Given the description of an element on the screen output the (x, y) to click on. 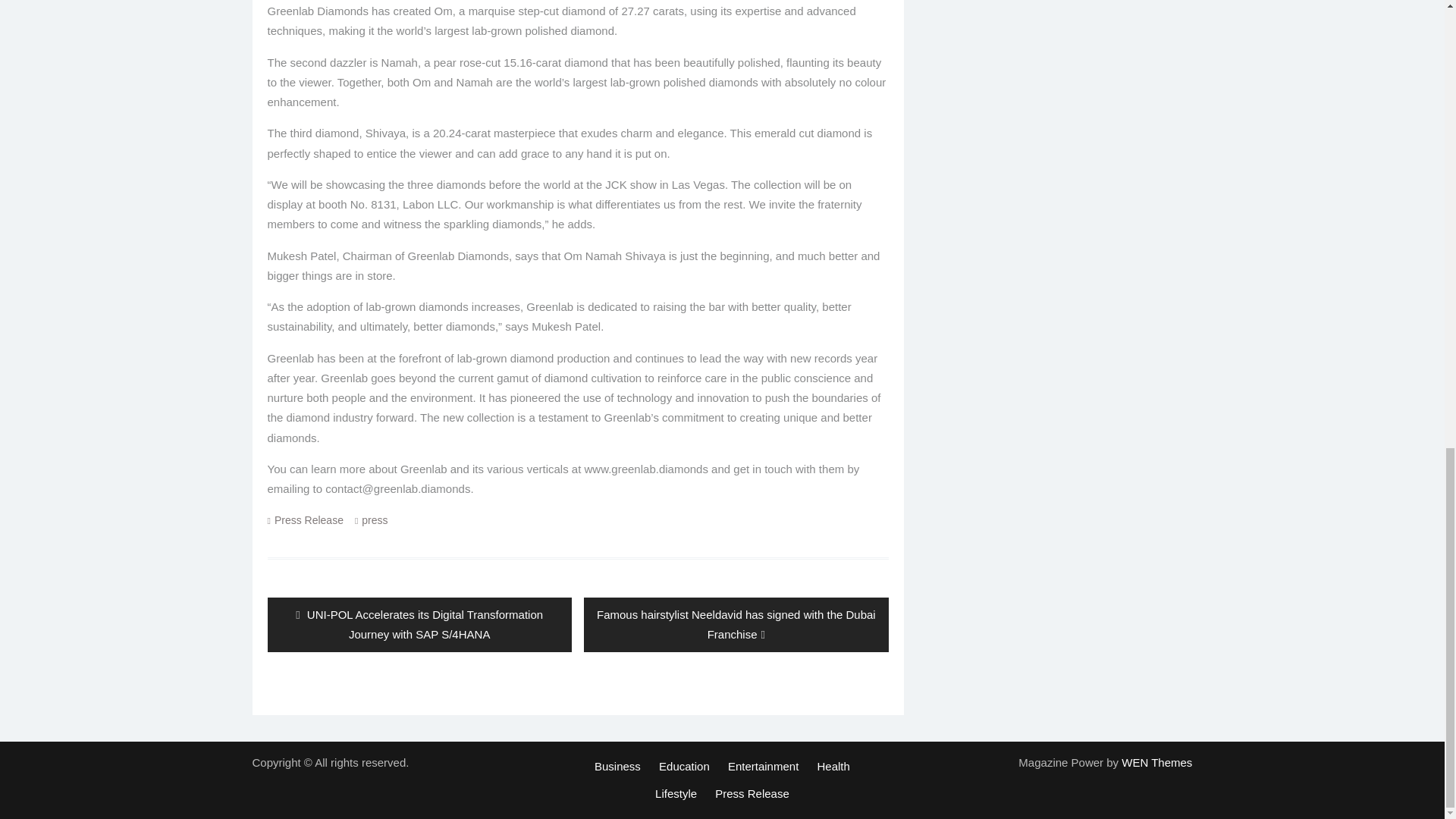
Press Release (309, 520)
